Given the description of an element on the screen output the (x, y) to click on. 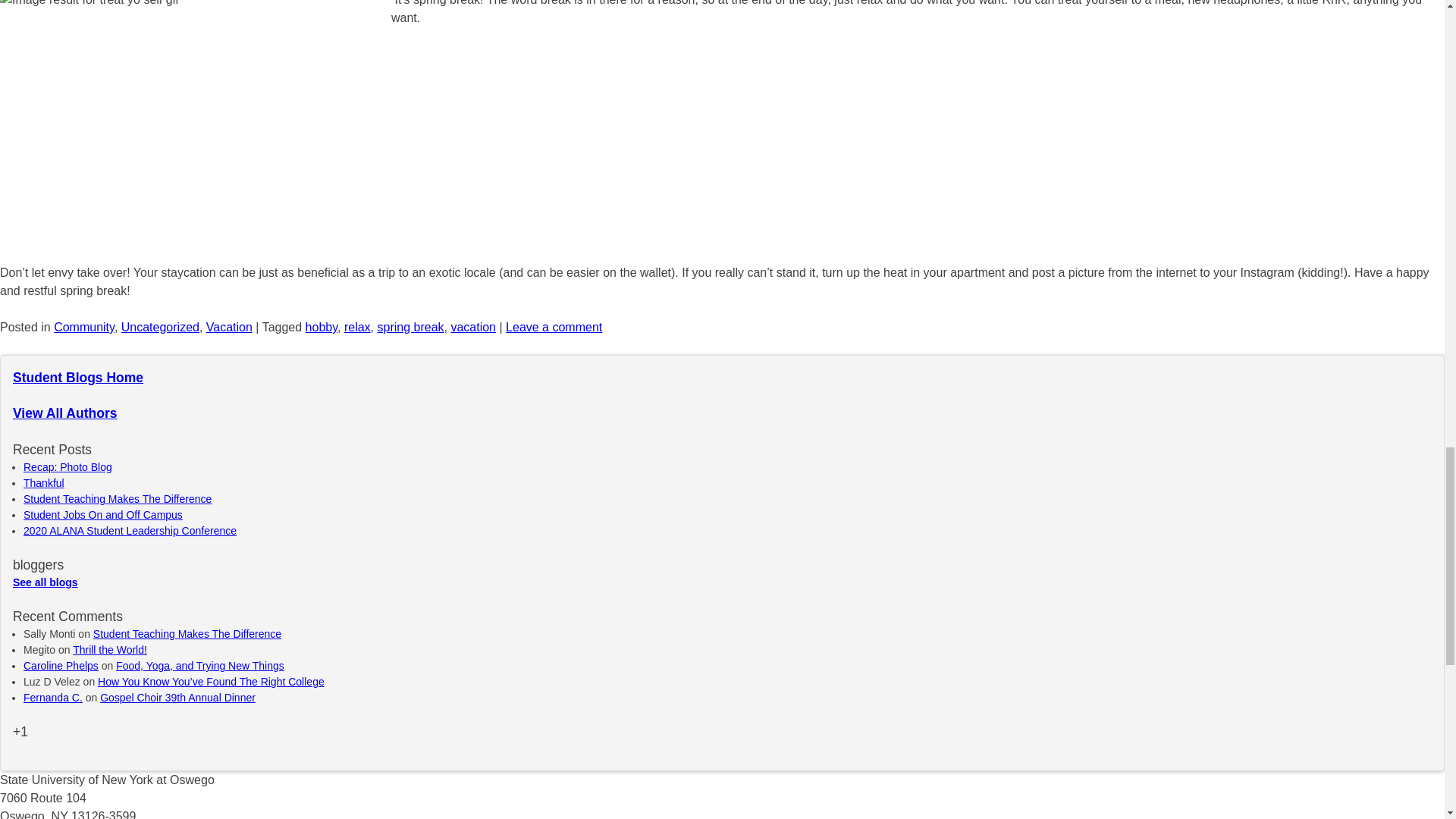
hobby (321, 327)
Recap: Photo Blog (67, 467)
Community (84, 327)
Leave a comment (553, 327)
Student Teaching Makes The Difference (187, 633)
Thankful (43, 482)
Student Jobs On and Off Campus (103, 514)
Student Blogs Home (77, 377)
Student Teaching Makes The Difference (117, 499)
Caroline Phelps (61, 665)
Thrill the World! (109, 649)
vacation (472, 327)
spring break (410, 327)
See all blogs (45, 582)
relax (357, 327)
